Given the description of an element on the screen output the (x, y) to click on. 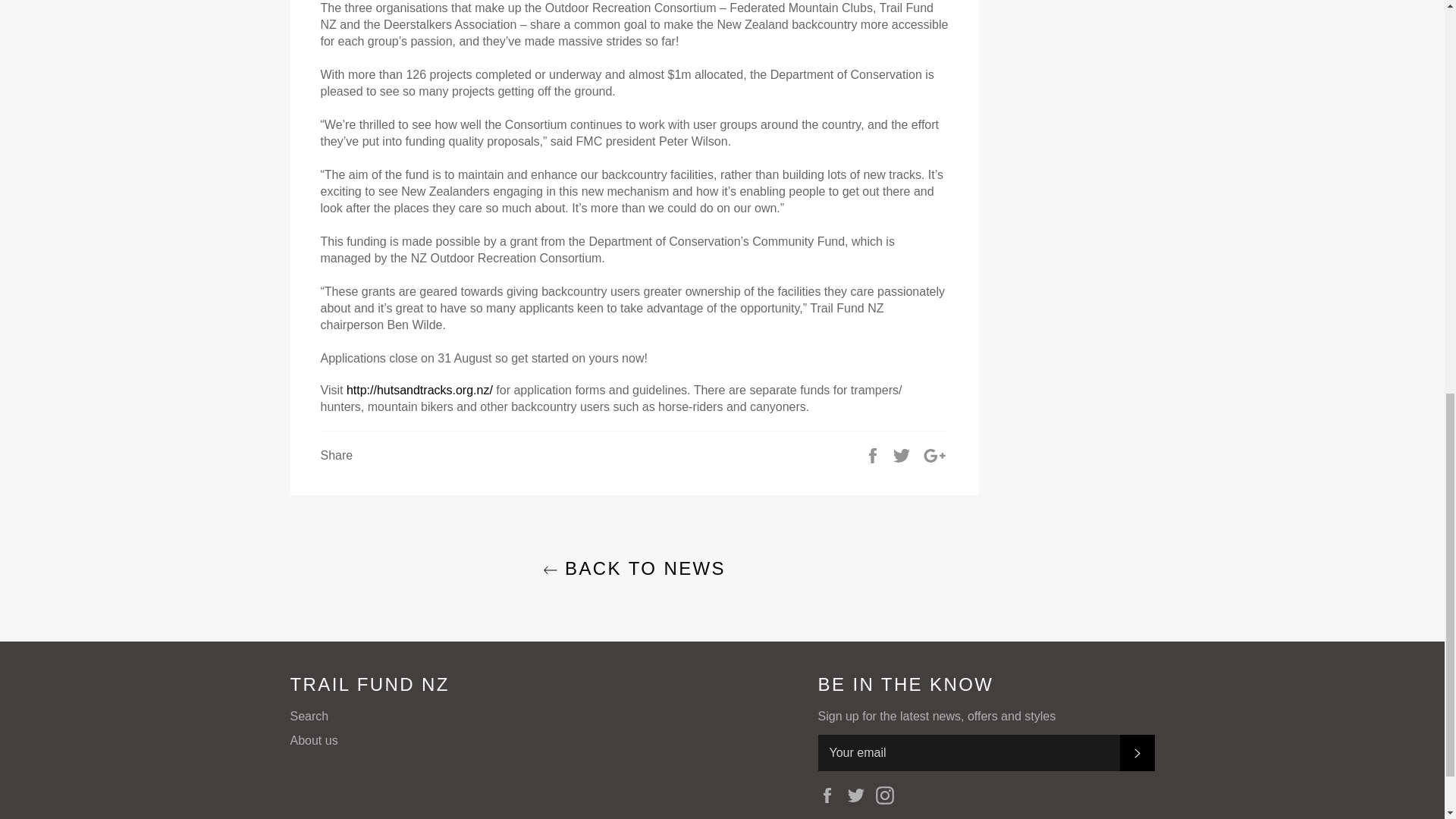
Tweet on Twitter (903, 454)
Trail Fund on Instagram (888, 794)
Trail Fund on Facebook (829, 794)
Share on Facebook (874, 454)
Trail Fund on Twitter (859, 794)
